Given the description of an element on the screen output the (x, y) to click on. 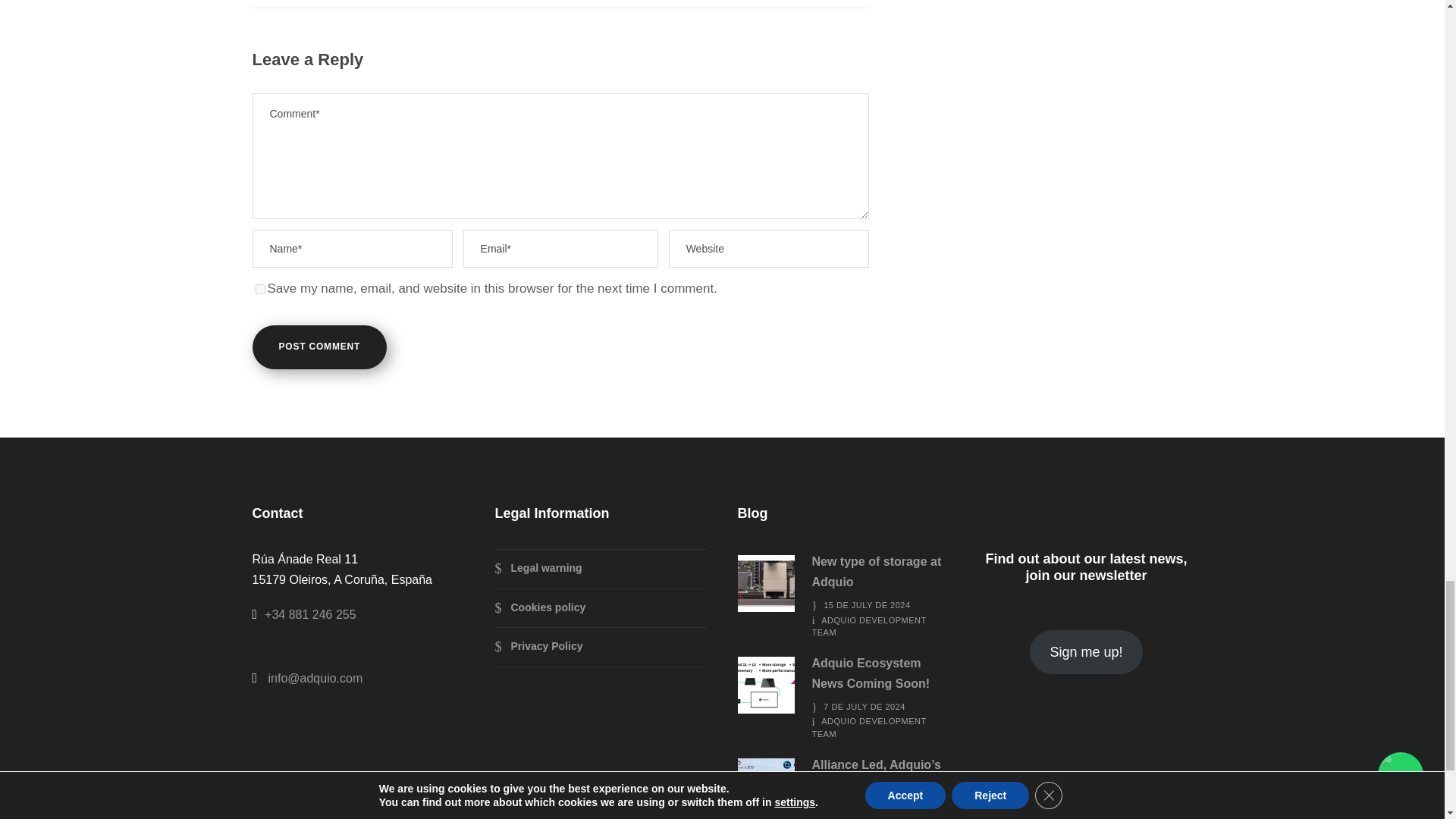
yes (259, 289)
Post Comment (319, 347)
